Given the description of an element on the screen output the (x, y) to click on. 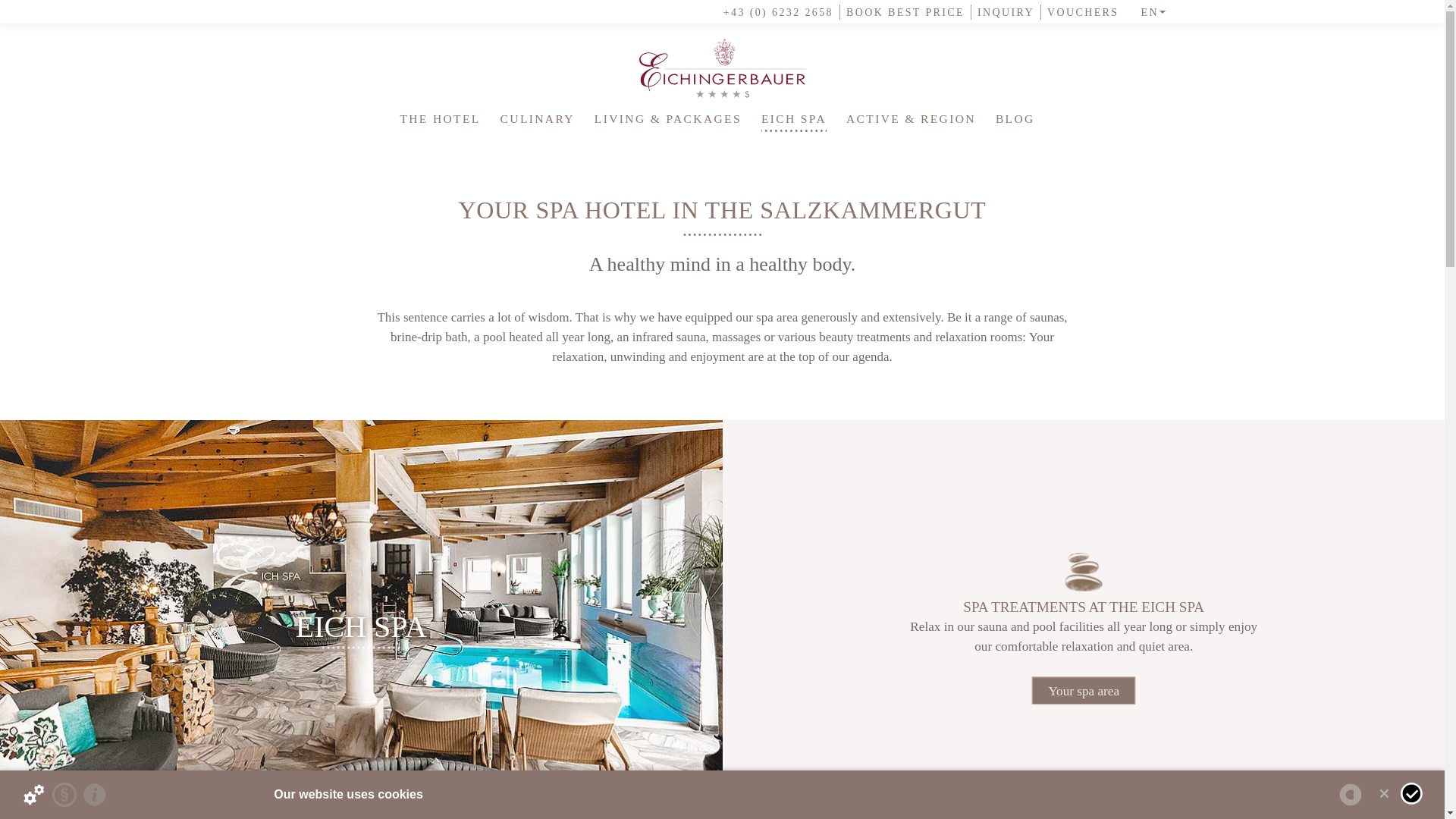
VOUCHERS (1080, 11)
powered by Datareporter (1350, 794)
Only allow required cookies (1383, 793)
EN (1148, 11)
Imprint (94, 794)
BOOK BEST PRICE (901, 11)
THE HOTEL (439, 118)
INQUIRY (1002, 11)
Privacy statement... (64, 794)
Details about cookies ... (33, 794)
